Given the description of an element on the screen output the (x, y) to click on. 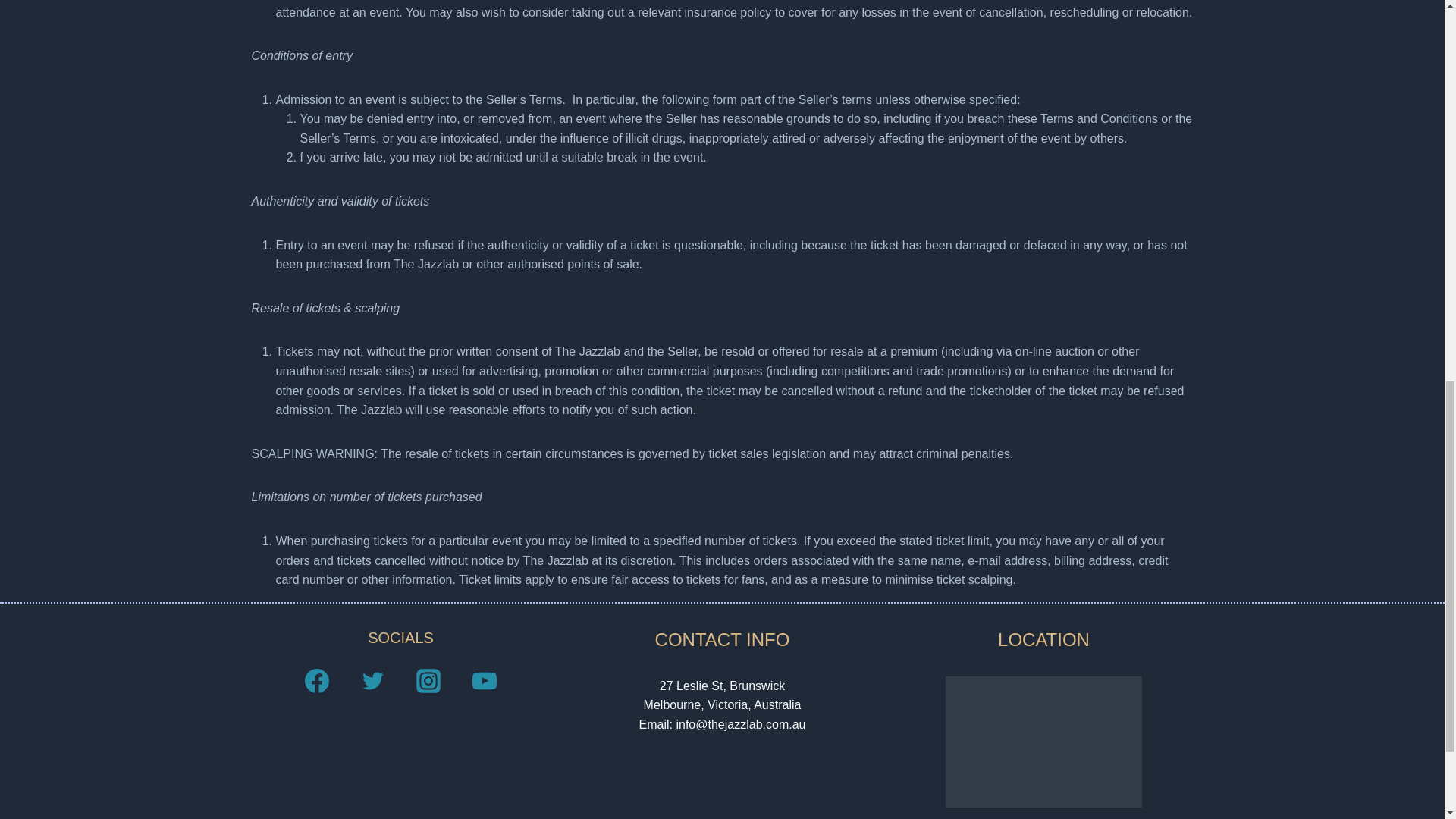
Link to Jazzlab Map (1042, 741)
